Given the description of an element on the screen output the (x, y) to click on. 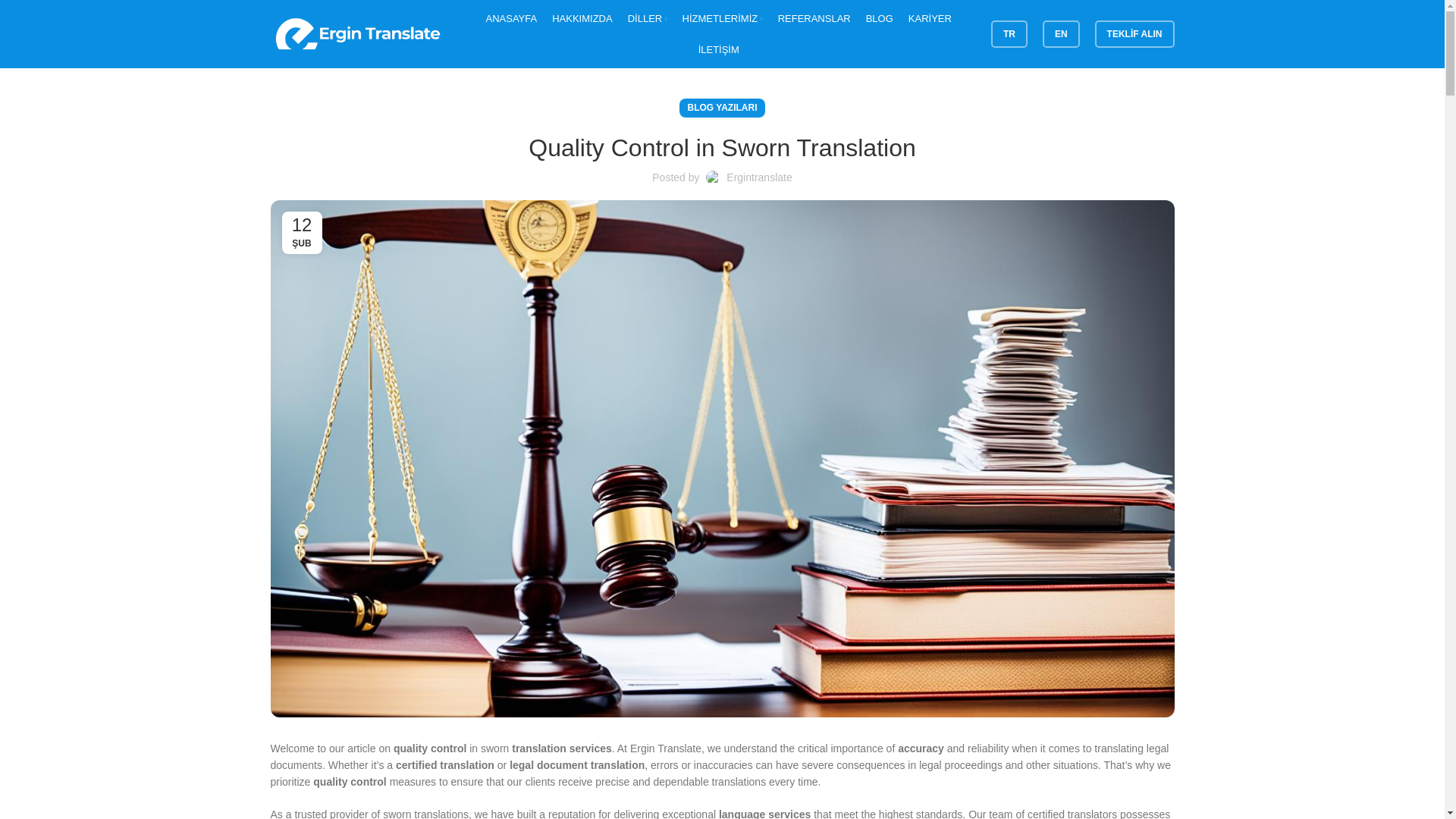
DILLER (646, 18)
HAKKIMIZDA (581, 18)
ANASAYFA (511, 18)
